Given the description of an element on the screen output the (x, y) to click on. 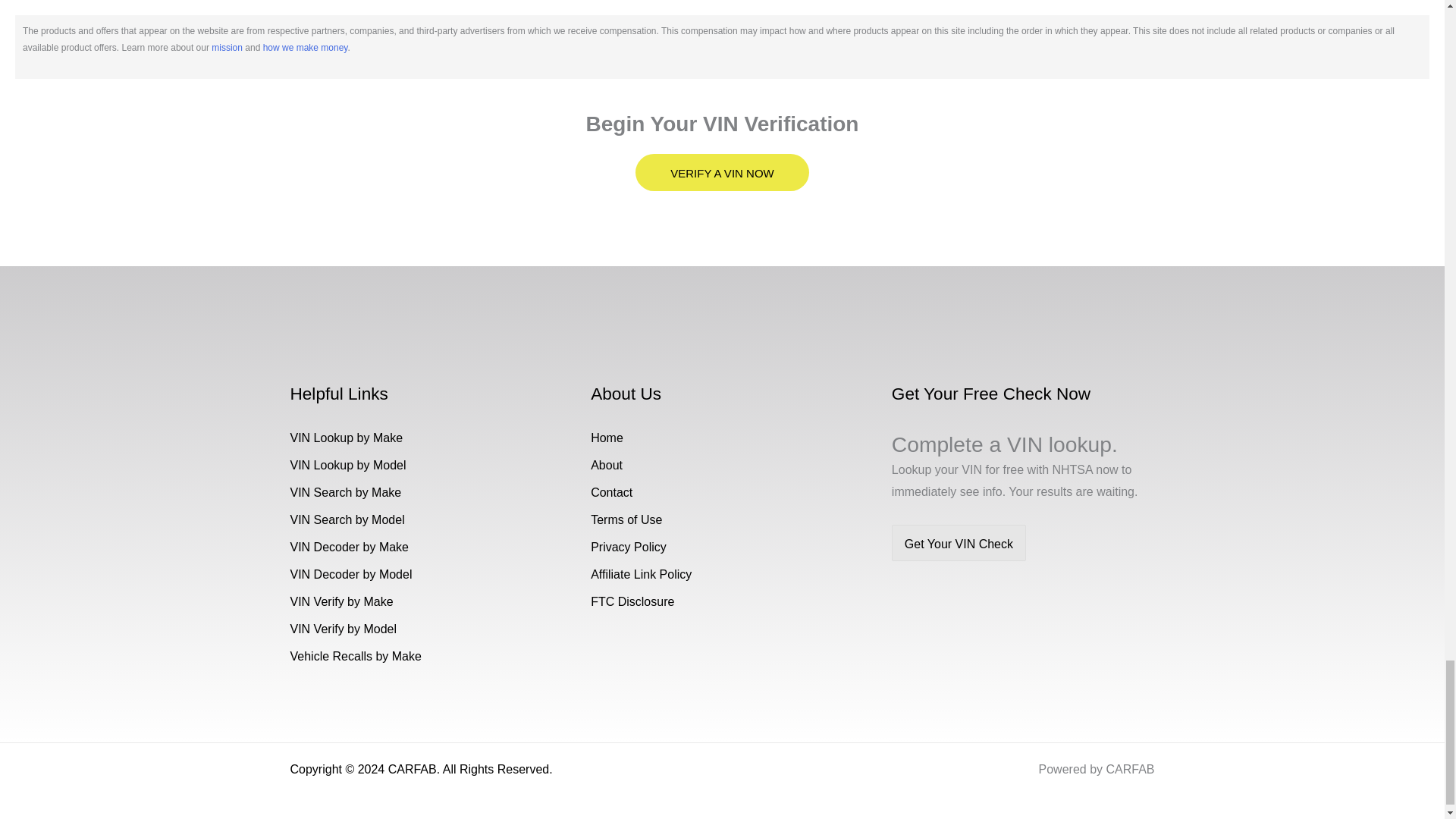
VIN Verify by Make (341, 601)
VIN Lookup by Make (346, 437)
VIN Decoder by Model (350, 574)
VIN Decoder by Make (349, 546)
VERIFY A VIN NOW (721, 171)
VIN Verify by Model (342, 628)
Home (607, 437)
how we make money (305, 47)
VIN Lookup by Model (347, 464)
VIN Search by Model (346, 519)
Vehicle Recalls by Make (354, 656)
VIN Search by Make (345, 492)
mission (227, 47)
